Given the description of an element on the screen output the (x, y) to click on. 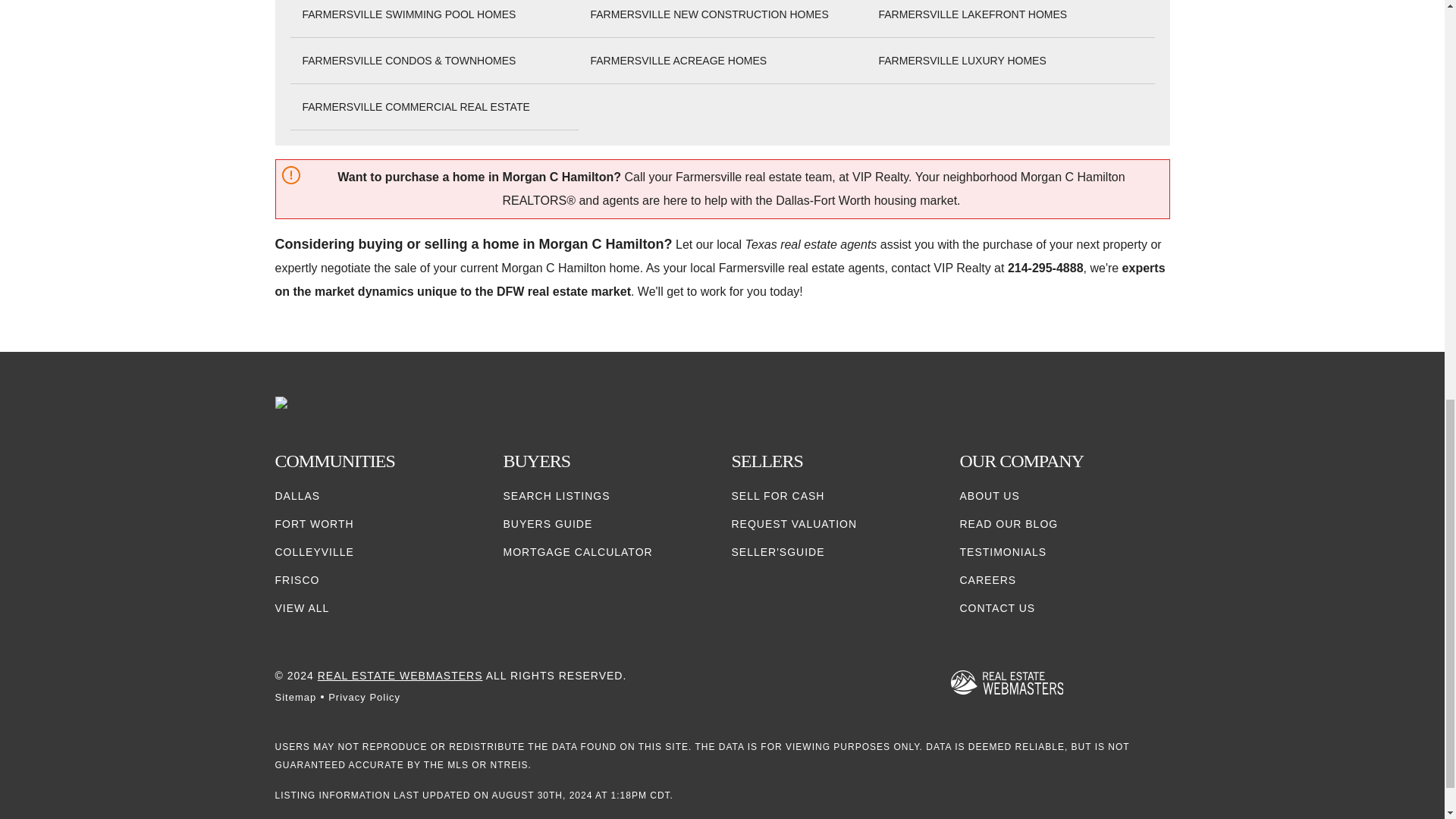
Farmersville Condos Townhomes (408, 60)
Farmersville commercial real esate (415, 107)
Farmersville Lakefront Homes (972, 14)
Farmersville Luxury Homes (961, 60)
Farmersville Acreage Homes (678, 60)
Farmersville New Construction Homes (708, 14)
Farmersville Swimming Pool Homes (408, 14)
